Given the description of an element on the screen output the (x, y) to click on. 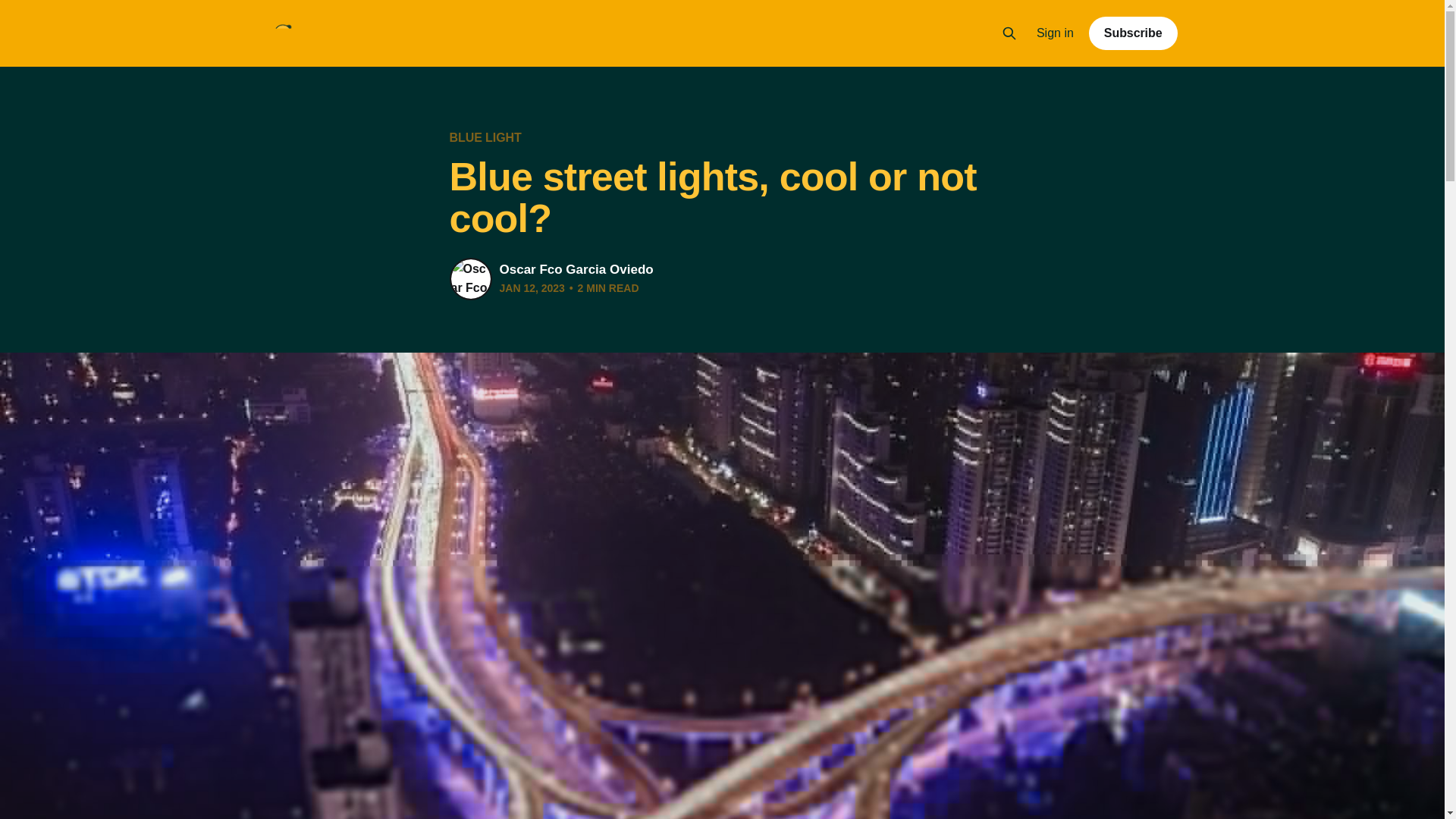
Oscar Fco Garcia Oviedo (575, 269)
BLUE LIGHT (484, 137)
Sign in (1055, 33)
Subscribe (1133, 32)
